Given the description of an element on the screen output the (x, y) to click on. 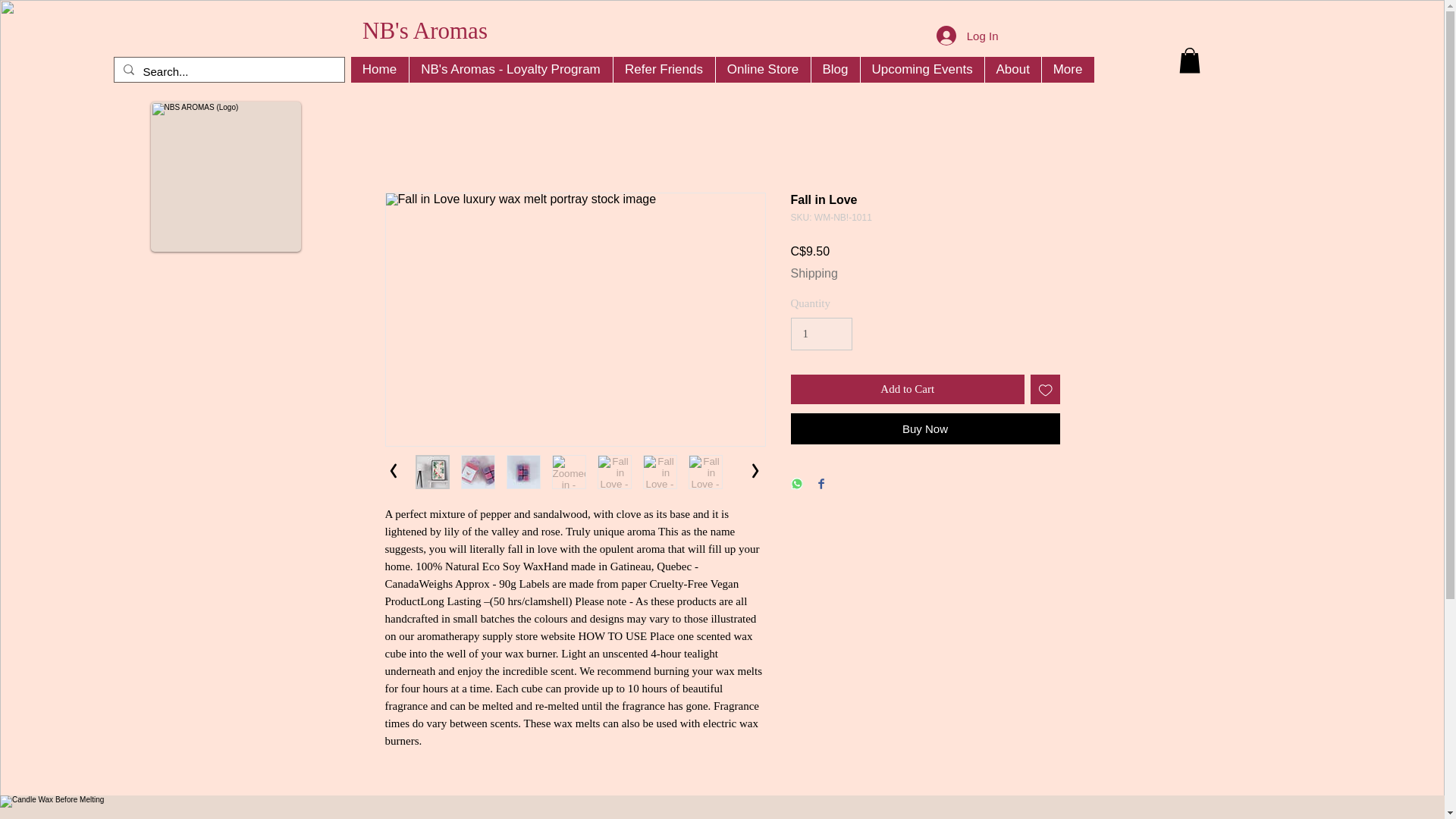
Add to Cart (907, 389)
Refer Friends (663, 69)
Log In (967, 35)
Home (378, 69)
About (1012, 69)
Buy Now (924, 428)
NB's Aromas - Loyalty Program (509, 69)
Shipping (813, 273)
Upcoming Events (922, 69)
1 (820, 334)
